Given the description of an element on the screen output the (x, y) to click on. 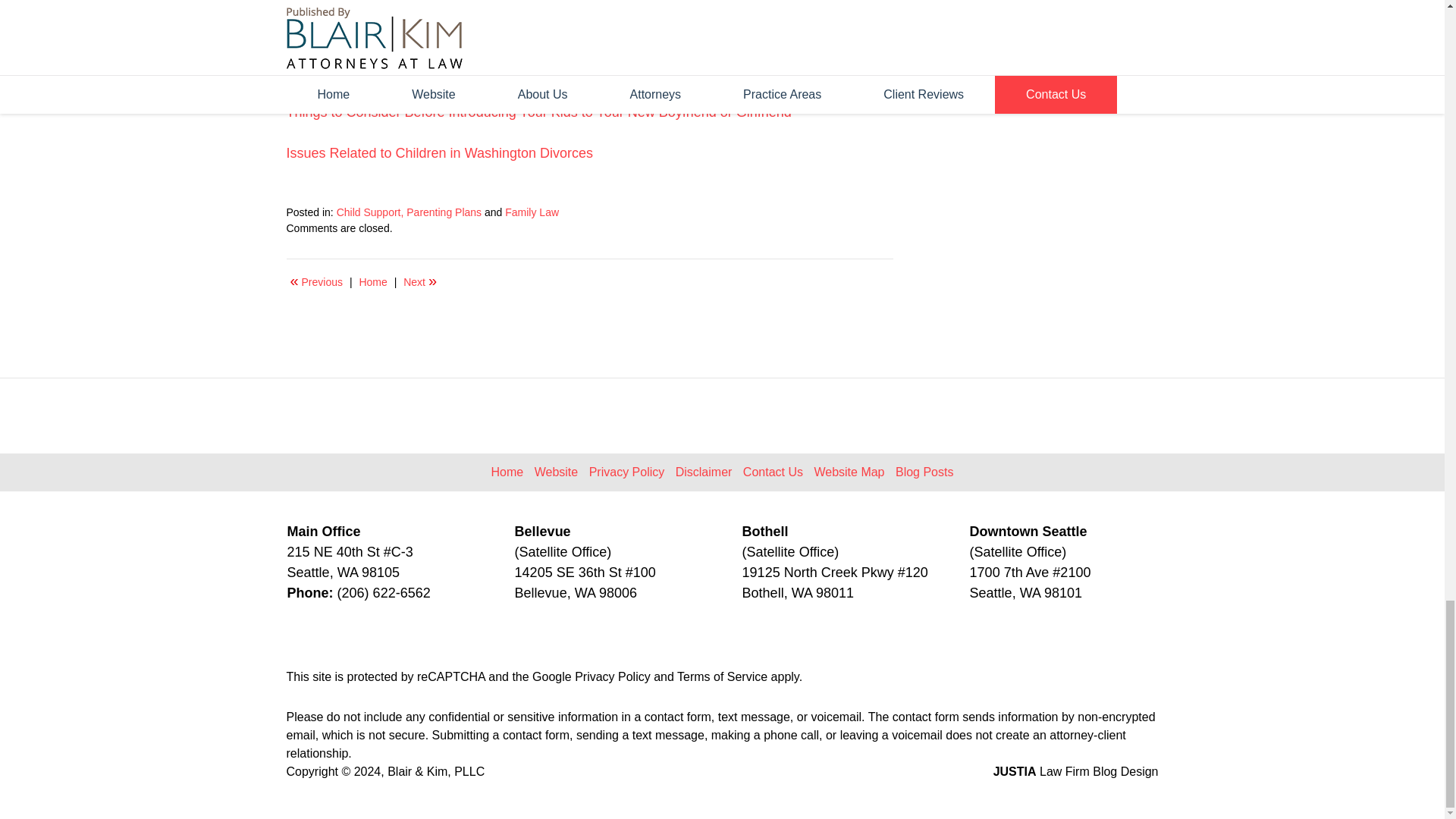
Child Support, Parenting Plans (408, 212)
Family Law (532, 212)
Sale of the Family Home in Washington Divorce (419, 281)
View all posts in Family Law (532, 212)
Home (372, 281)
Issues Related to Children in Washington Divorces (440, 152)
View all posts in Child Support, Parenting Plans (408, 212)
